Given the description of an element on the screen output the (x, y) to click on. 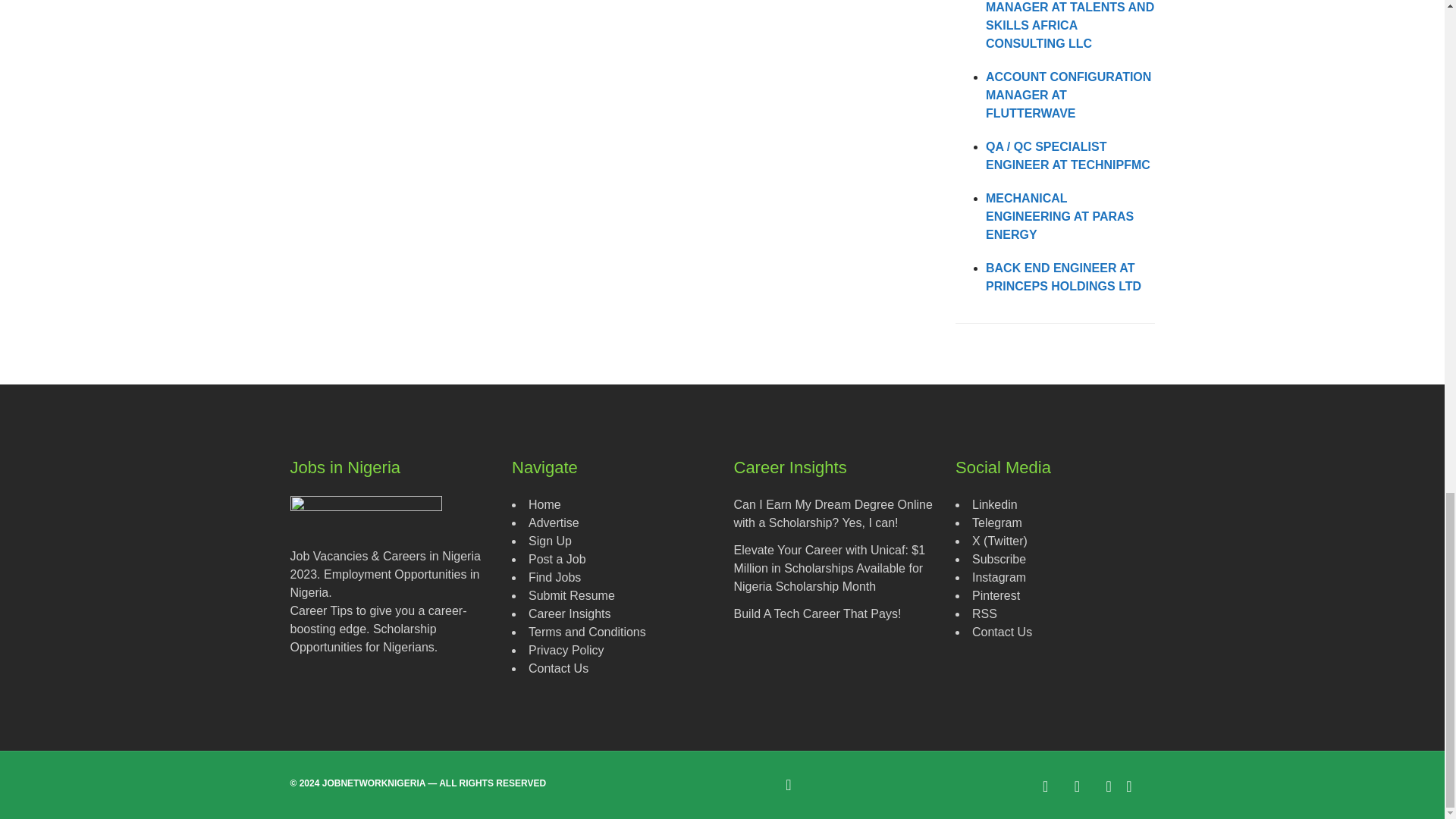
BACK END ENGINEER AT PRINCEPS HOLDINGS LTD (1063, 276)
Advertise (553, 522)
ACCOUNT CONFIGURATION MANAGER AT FLUTTERWAVE (1068, 94)
MECHANICAL ENGINEERING AT PARAS ENERGY (1059, 215)
Home (544, 504)
